Given the description of an element on the screen output the (x, y) to click on. 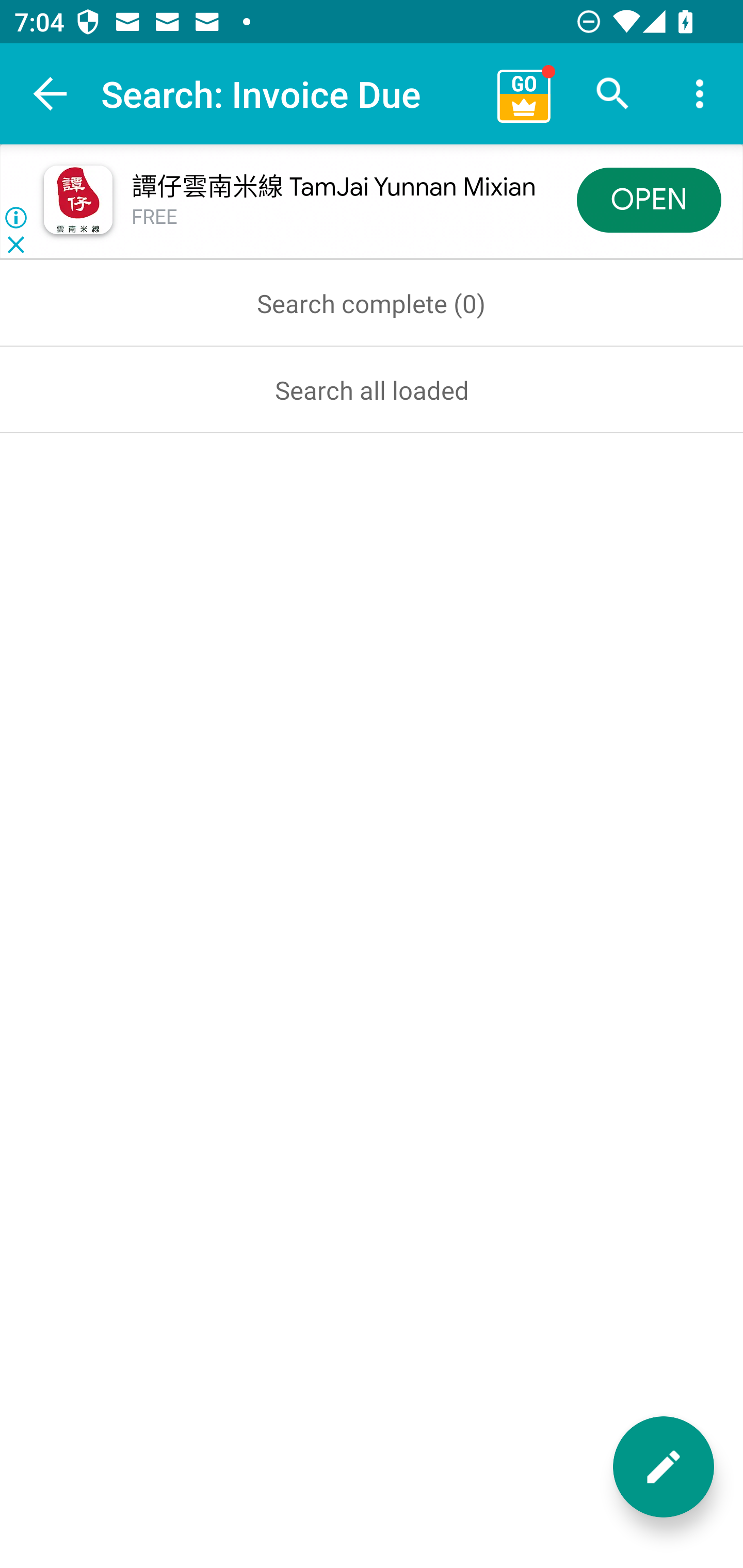
Navigate up (50, 93)
Search (612, 93)
More options (699, 93)
Search complete (0) (371, 303)
Search all loaded (371, 389)
New message (663, 1466)
